Given the description of an element on the screen output the (x, y) to click on. 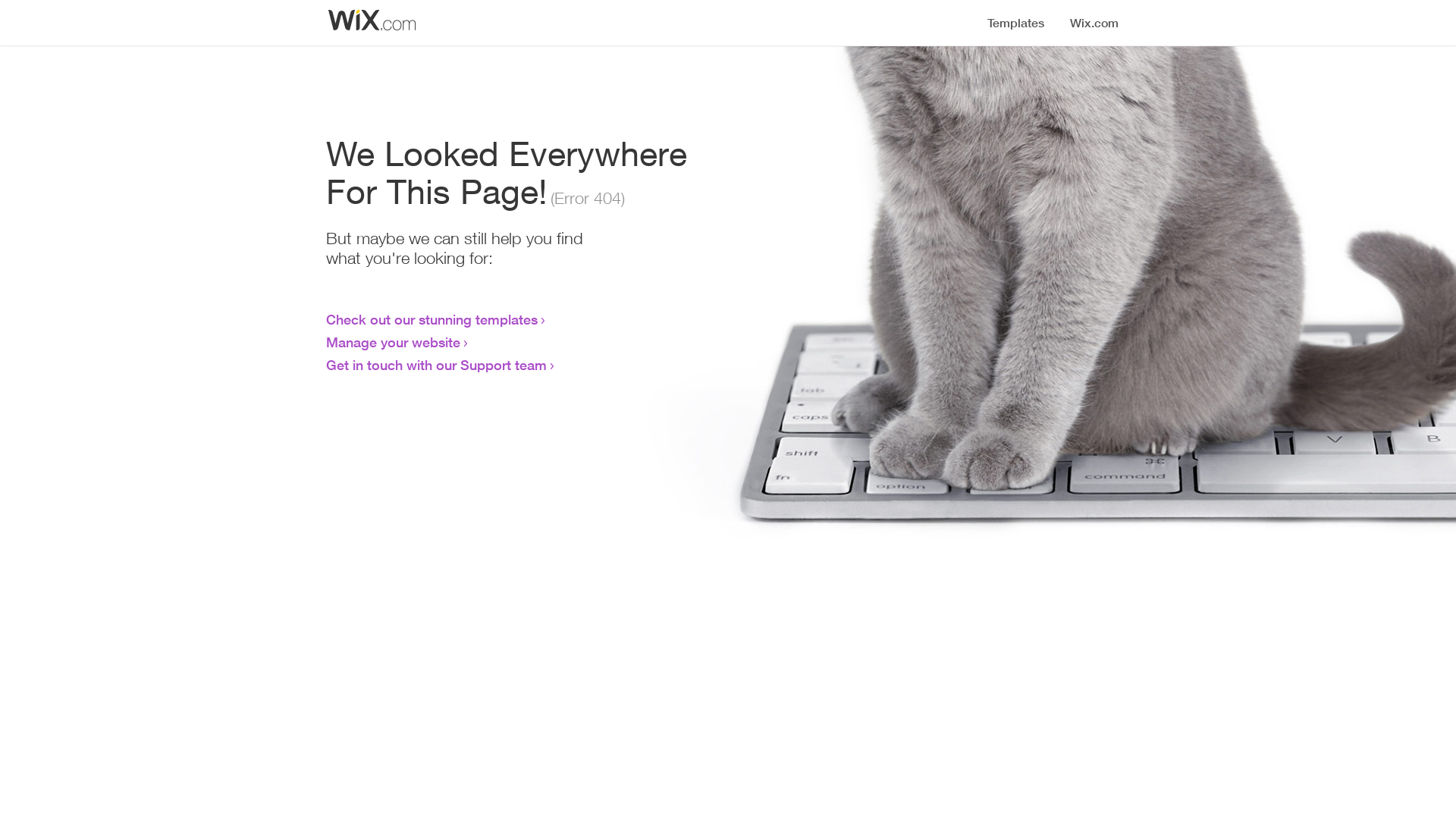
Manage your website Element type: text (393, 341)
Check out our stunning templates Element type: text (431, 318)
Get in touch with our Support team Element type: text (436, 364)
